Given the description of an element on the screen output the (x, y) to click on. 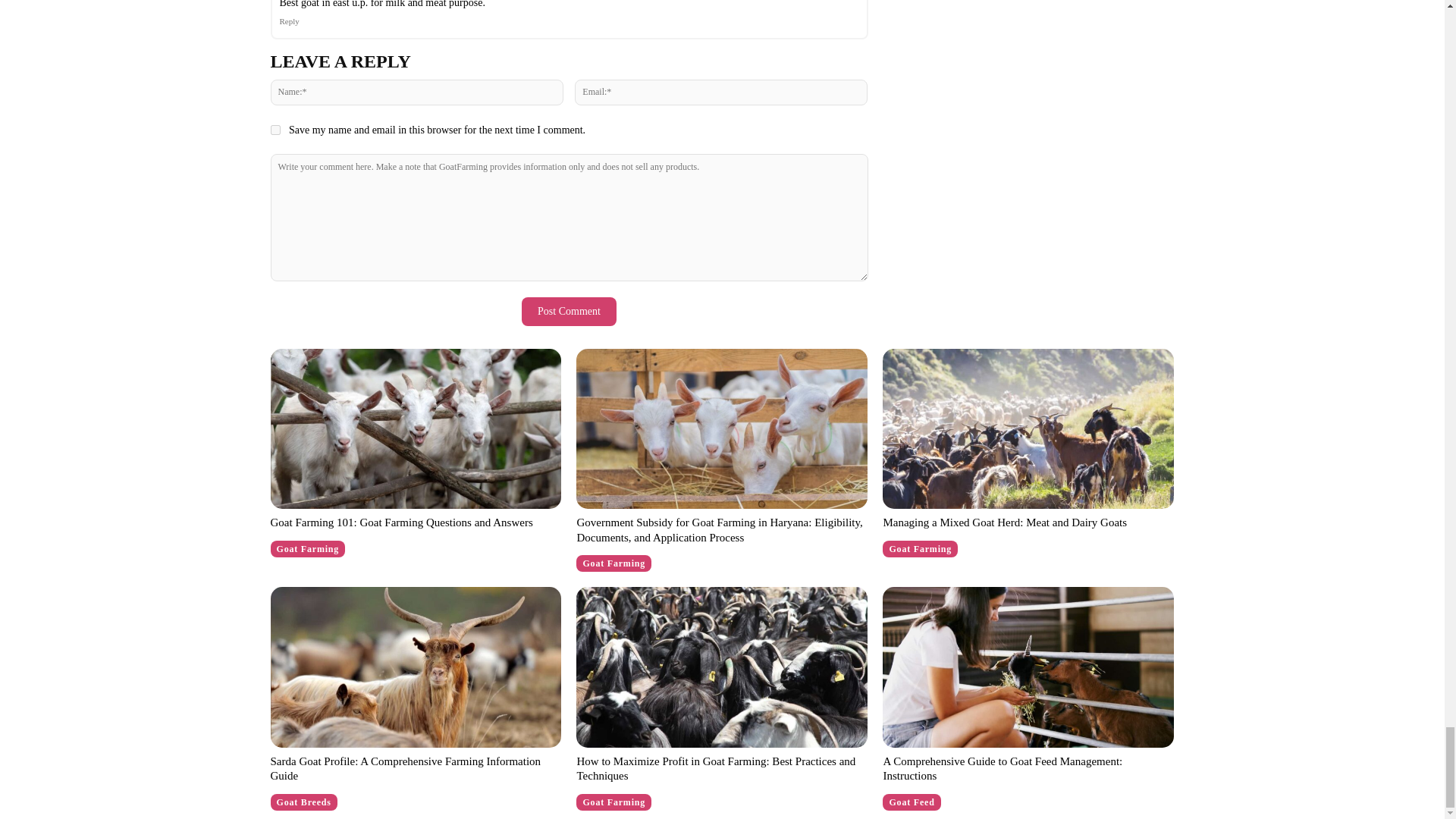
Post Comment (568, 311)
yes (274, 130)
